Given the description of an element on the screen output the (x, y) to click on. 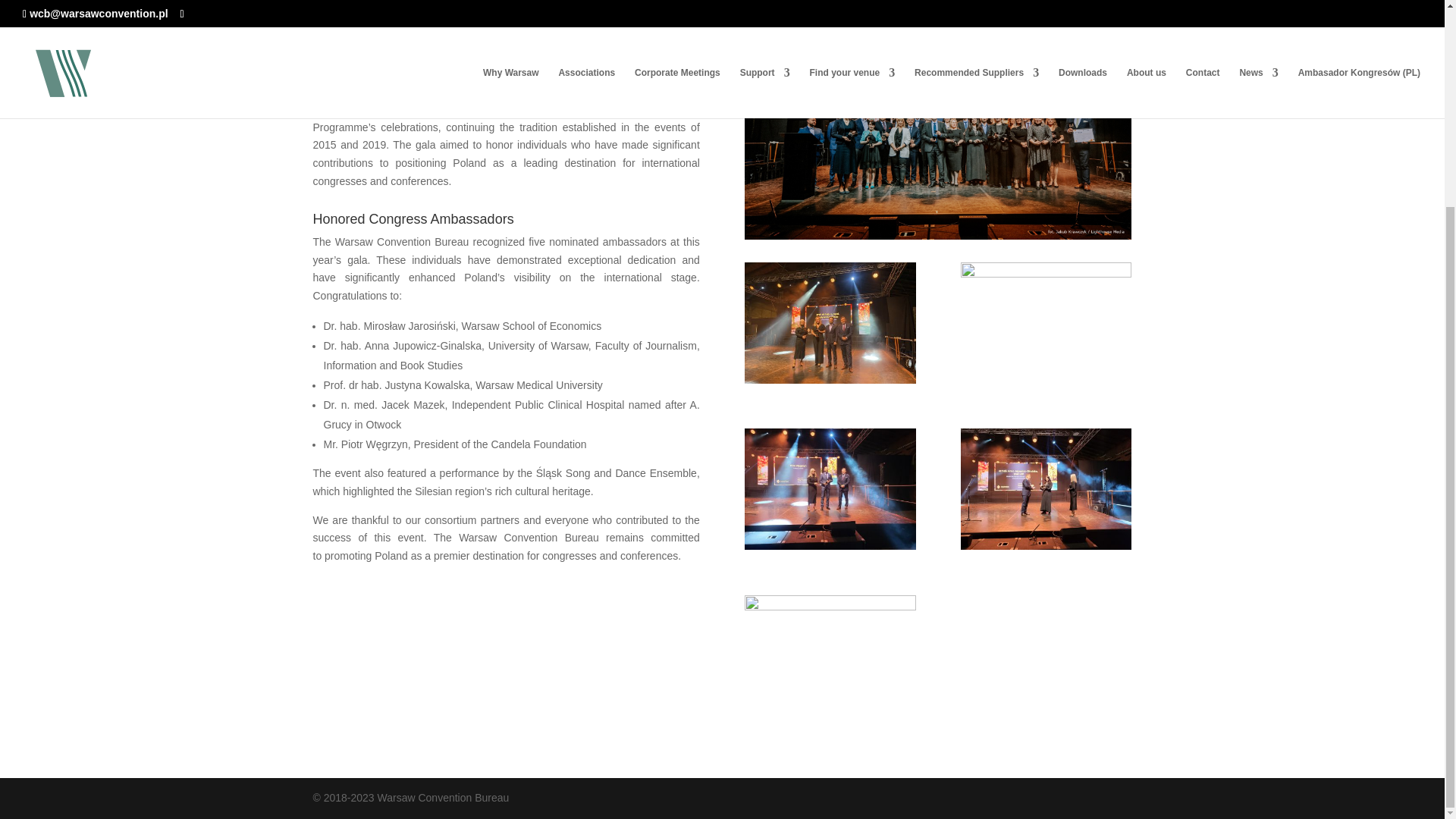
fot. Jakub Krawczyk Lighthouse Media (937, 119)
fot. Jakub Krawczyk Lighthouse Media (1045, 383)
